Given the description of an element on the screen output the (x, y) to click on. 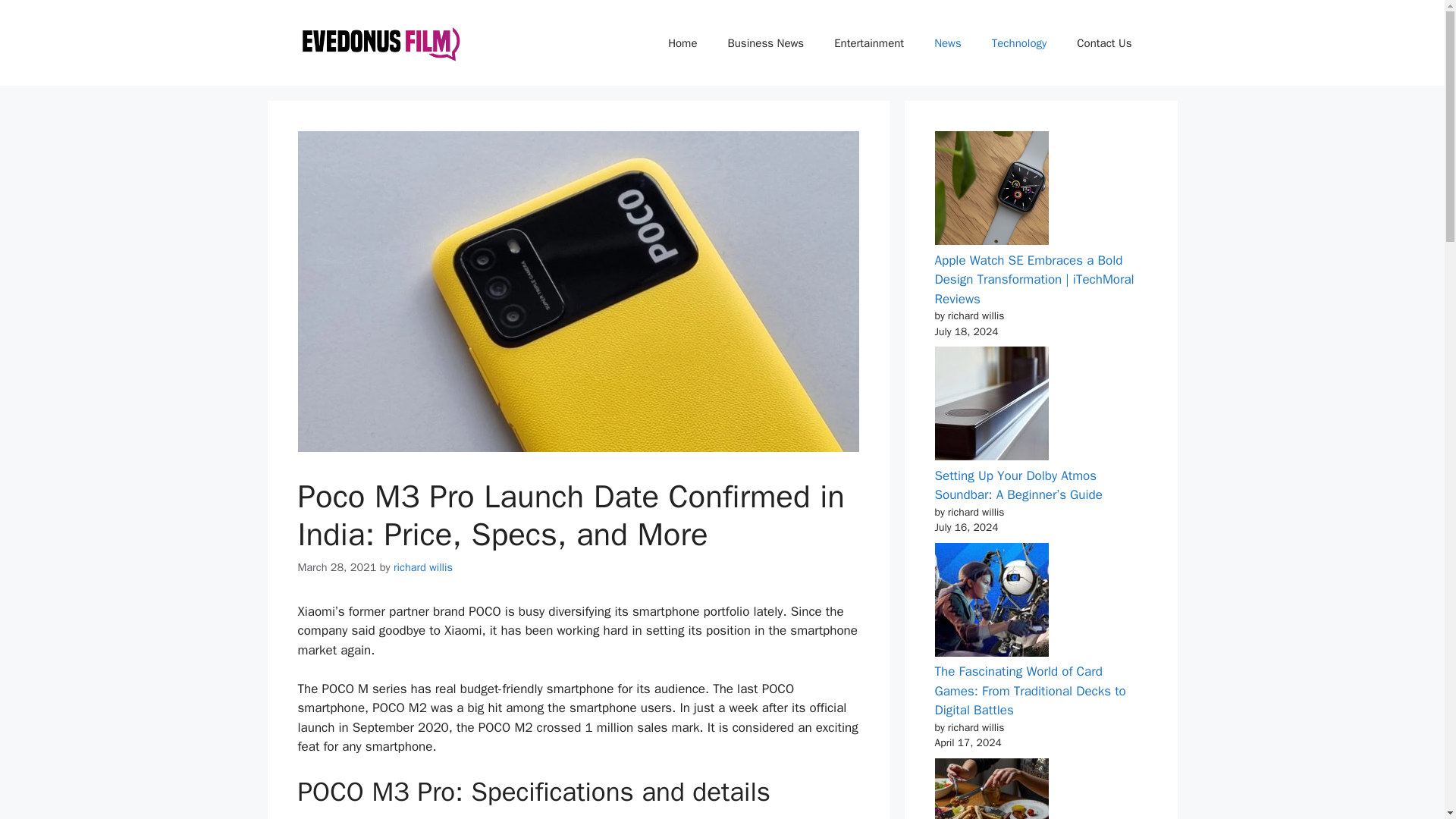
Business News (766, 43)
View all posts by richard willis (422, 567)
Entertainment (868, 43)
Home (681, 43)
Contact Us (1104, 43)
News (947, 43)
richard willis (422, 567)
Technology (1019, 43)
